Given the description of an element on the screen output the (x, y) to click on. 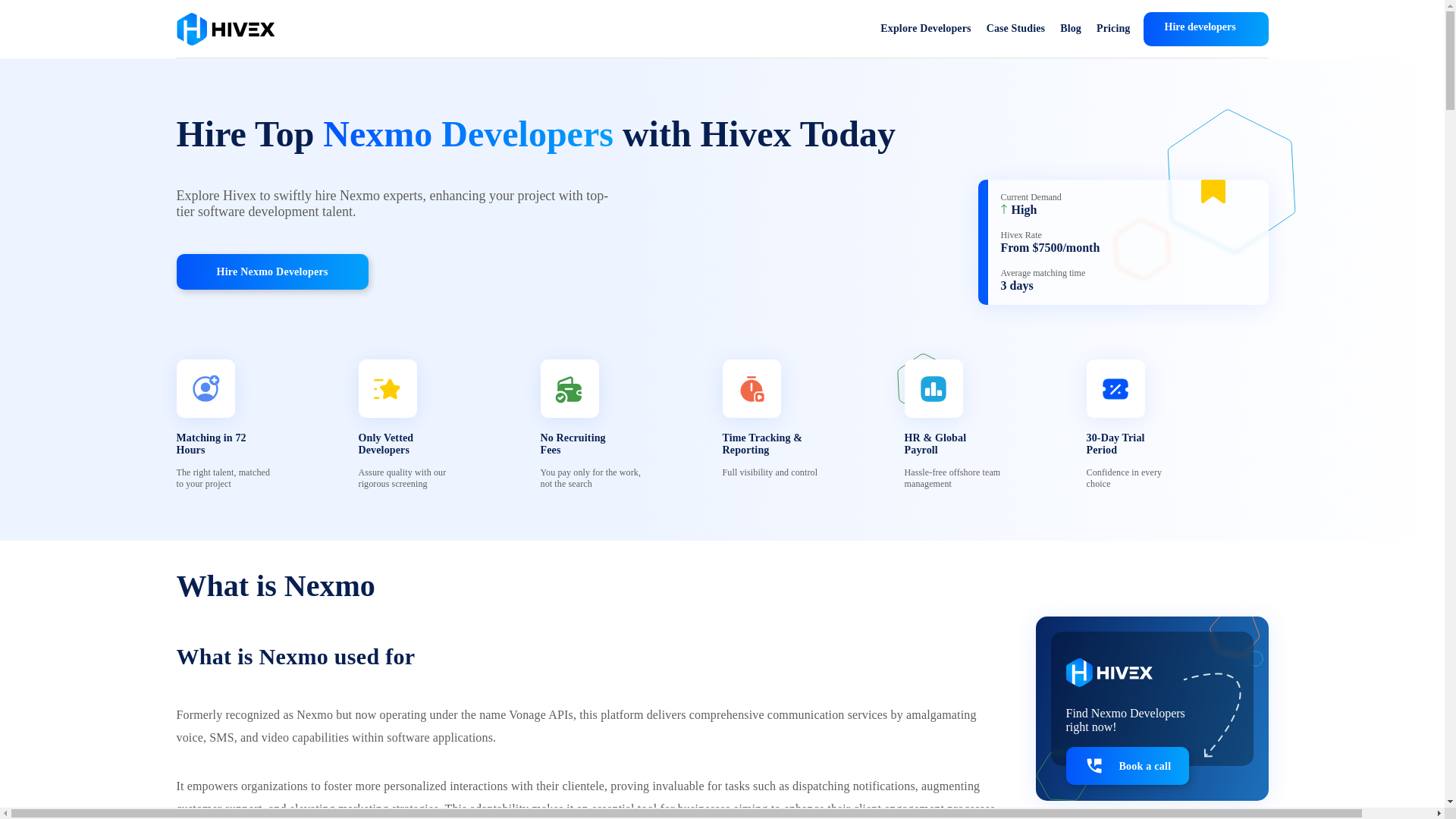
Hire Nexmo Developers (272, 271)
Hire developers (1205, 28)
Pricing (1113, 28)
Book a call (1127, 765)
Blog (1070, 28)
Explore Developers (925, 28)
Case Studies (1016, 28)
